Given the description of an element on the screen output the (x, y) to click on. 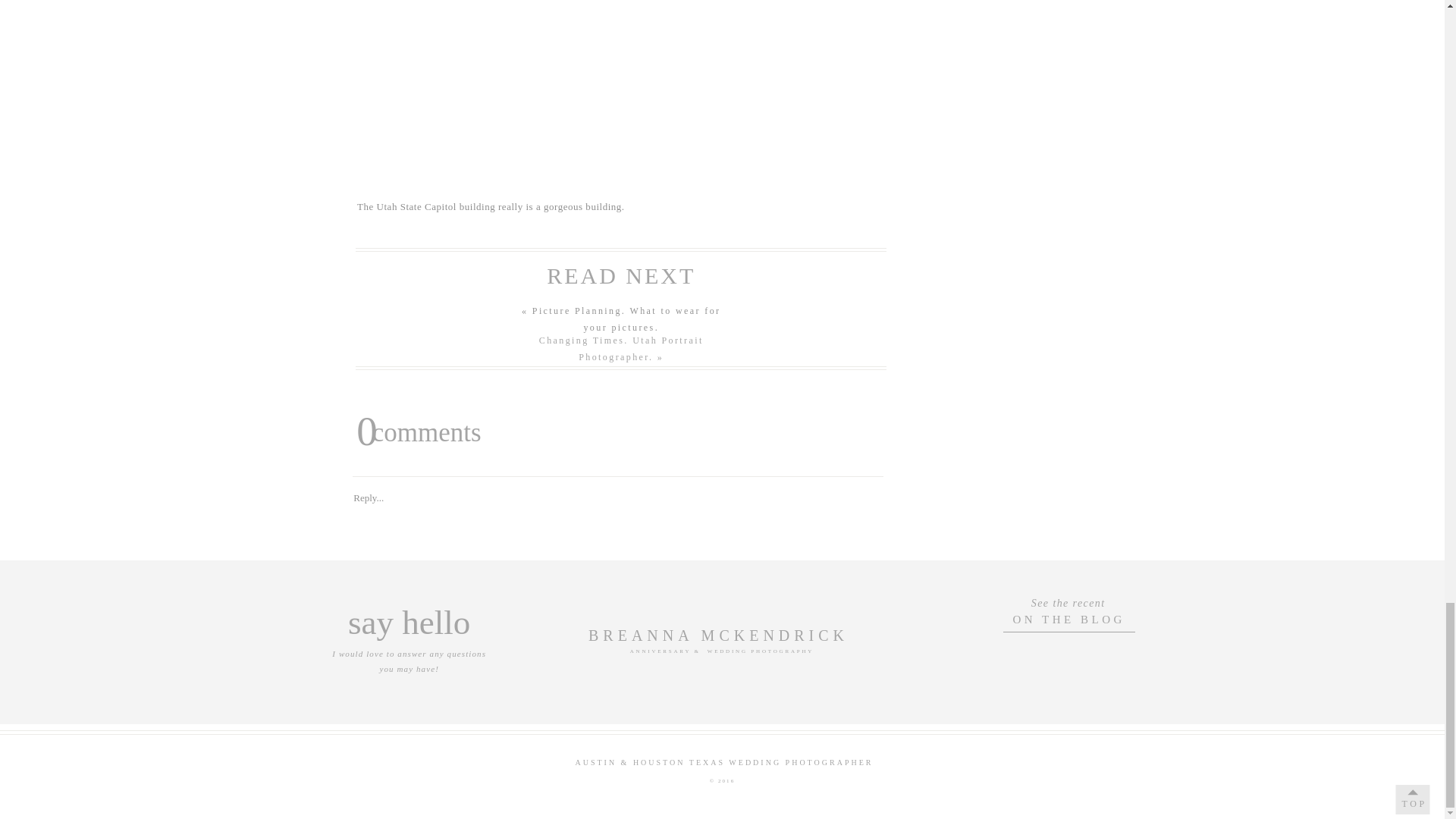
See the recent (1068, 599)
Picture Planning. What to wear for your pictures. (626, 318)
ON THE BLOG (1069, 618)
Changing Times. Utah Portrait Photographer. (620, 348)
State-Capitol-4601 (619, 90)
